Given the description of an element on the screen output the (x, y) to click on. 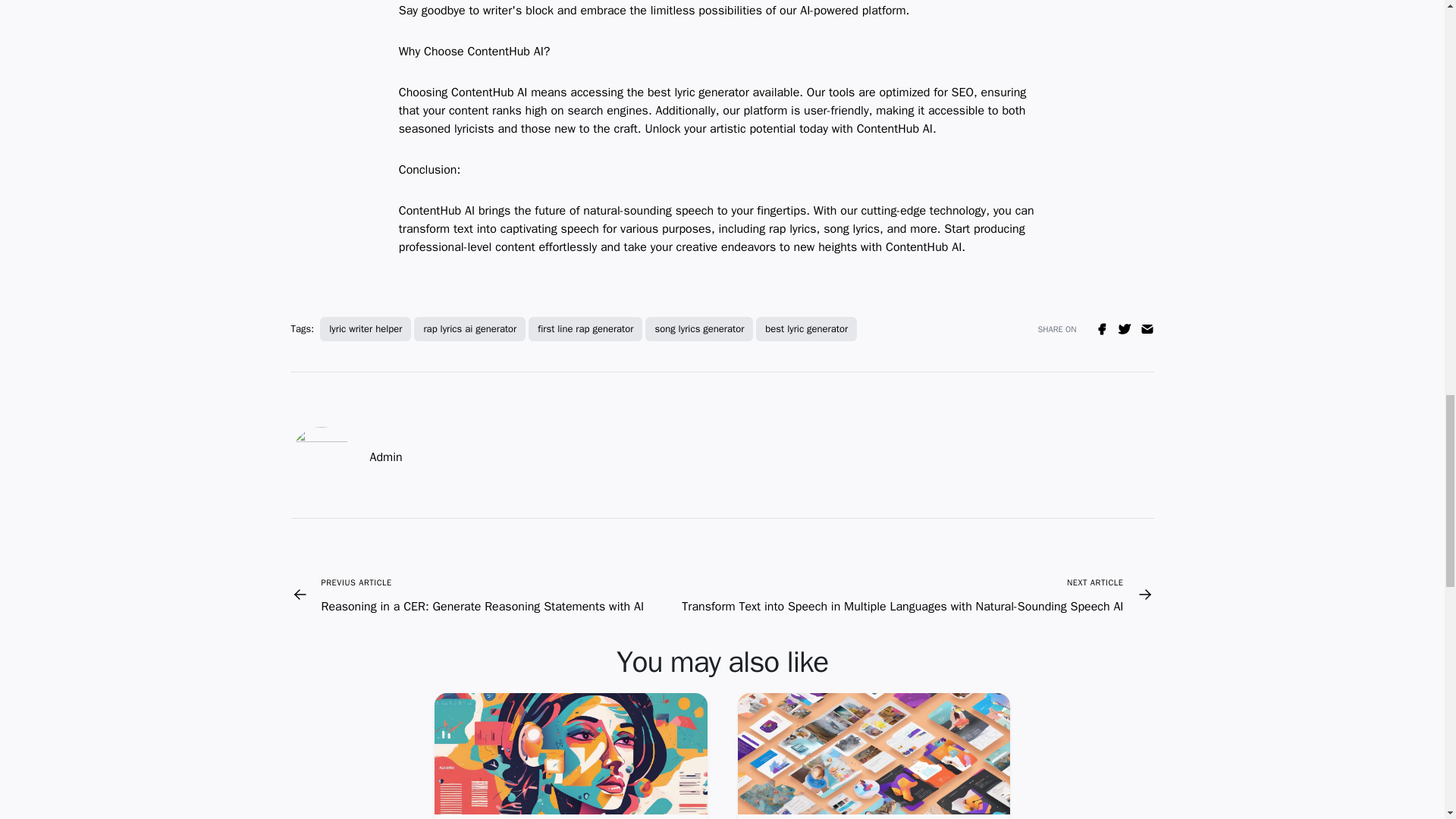
song lyrics generator (698, 328)
rap lyrics ai generator (469, 328)
best lyric generator (806, 328)
first line rap generator (585, 328)
Admin (386, 456)
lyric writer helper (365, 328)
